Given the description of an element on the screen output the (x, y) to click on. 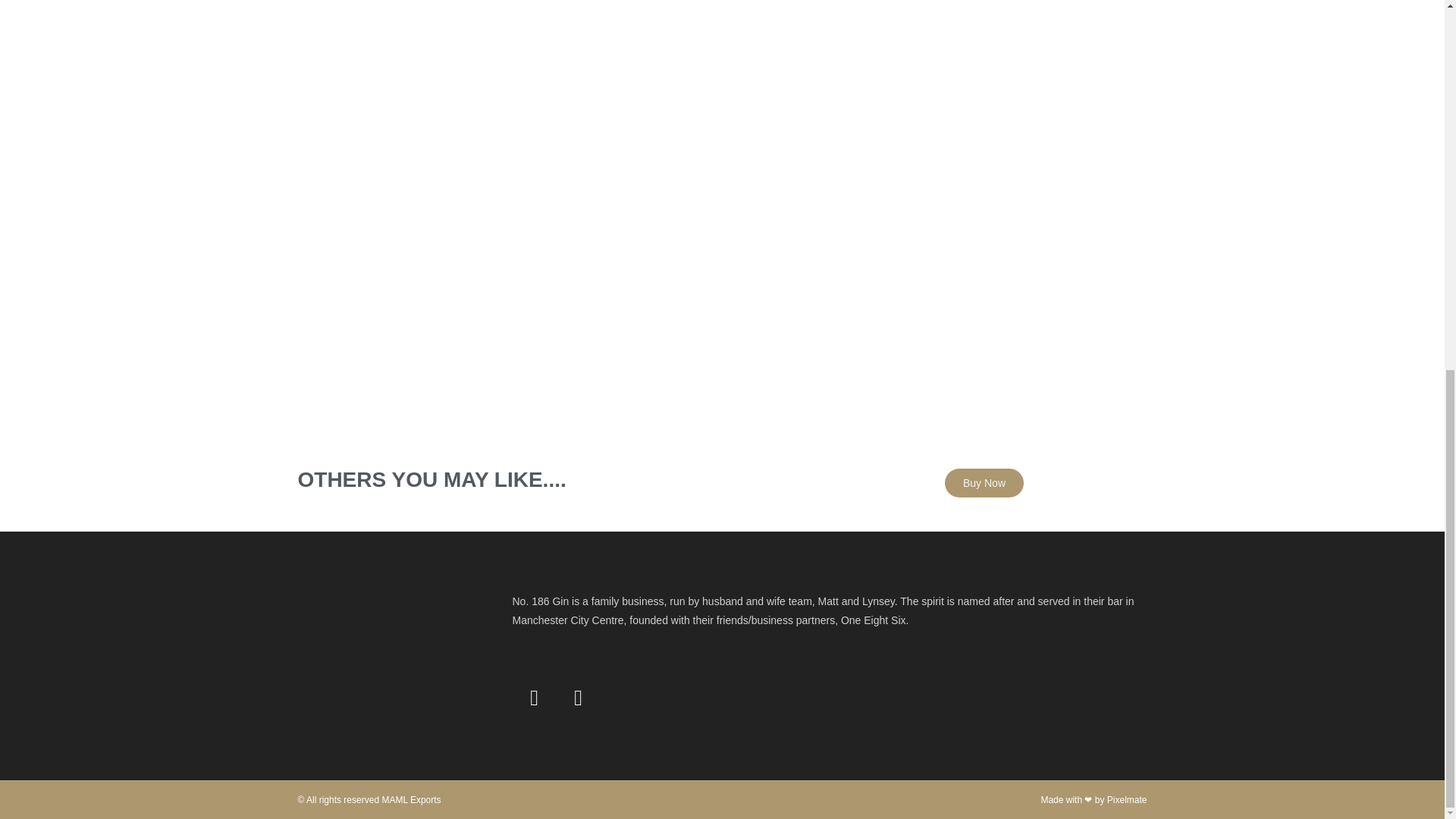
Buy Now (983, 482)
